Given the description of an element on the screen output the (x, y) to click on. 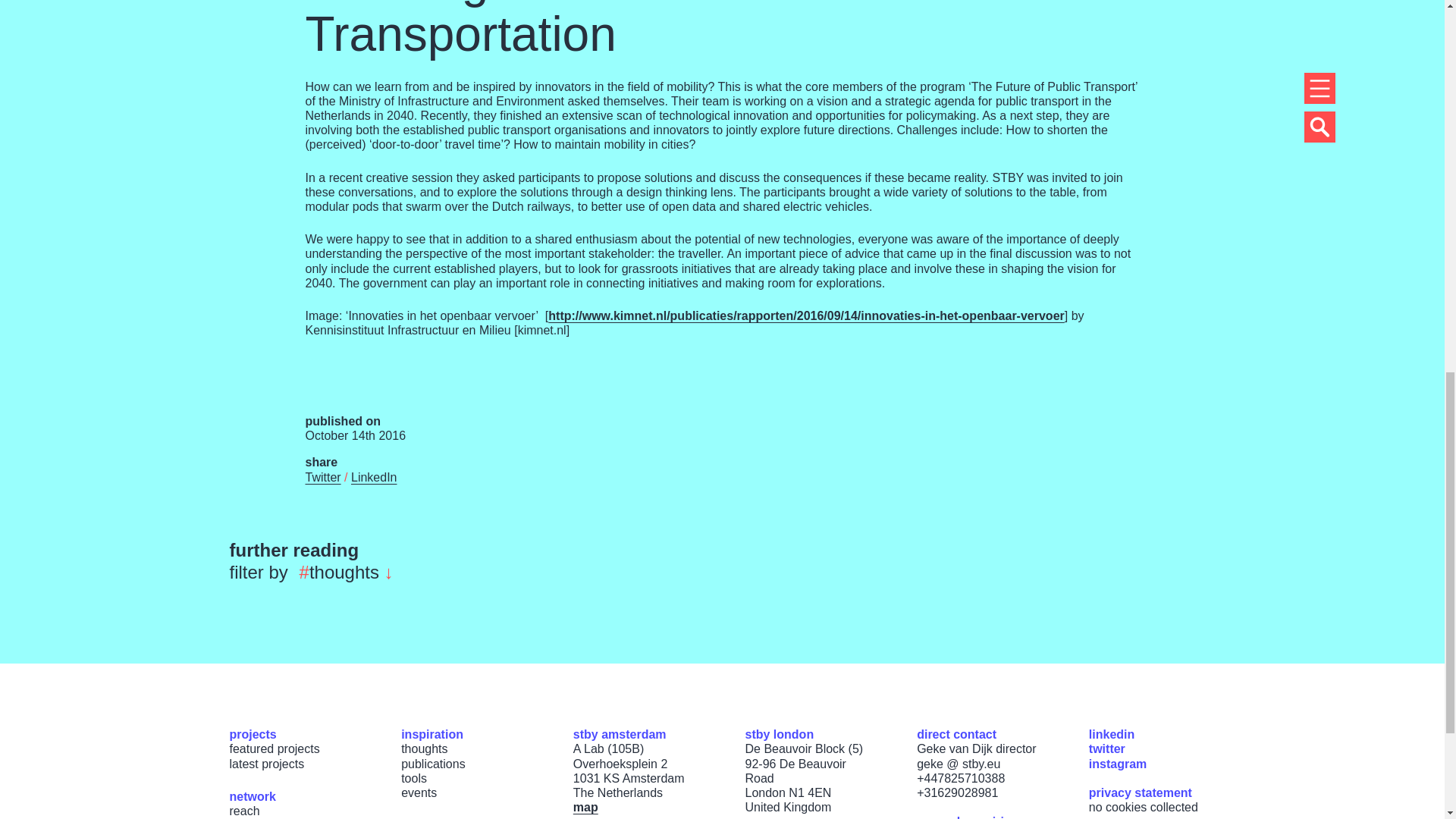
projects (252, 734)
featured projects (273, 748)
network (251, 796)
reach (243, 810)
inspiration (432, 734)
publications (433, 763)
Twitter (322, 477)
thoughts (423, 748)
LinkedIn (373, 477)
latest projects (266, 763)
